Given the description of an element on the screen output the (x, y) to click on. 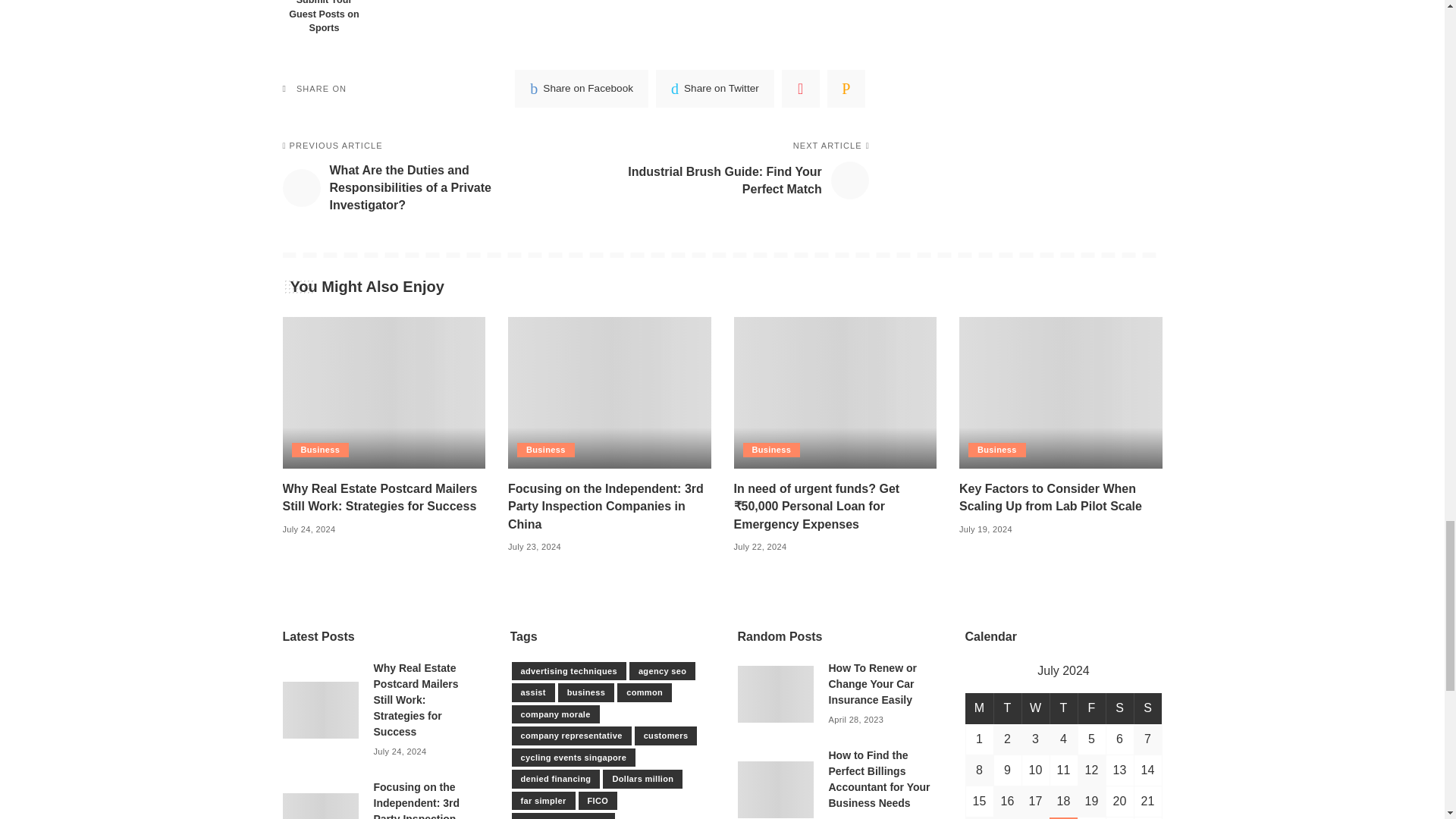
Share on Twitter (715, 88)
Share on Facebook (581, 88)
